Given the description of an element on the screen output the (x, y) to click on. 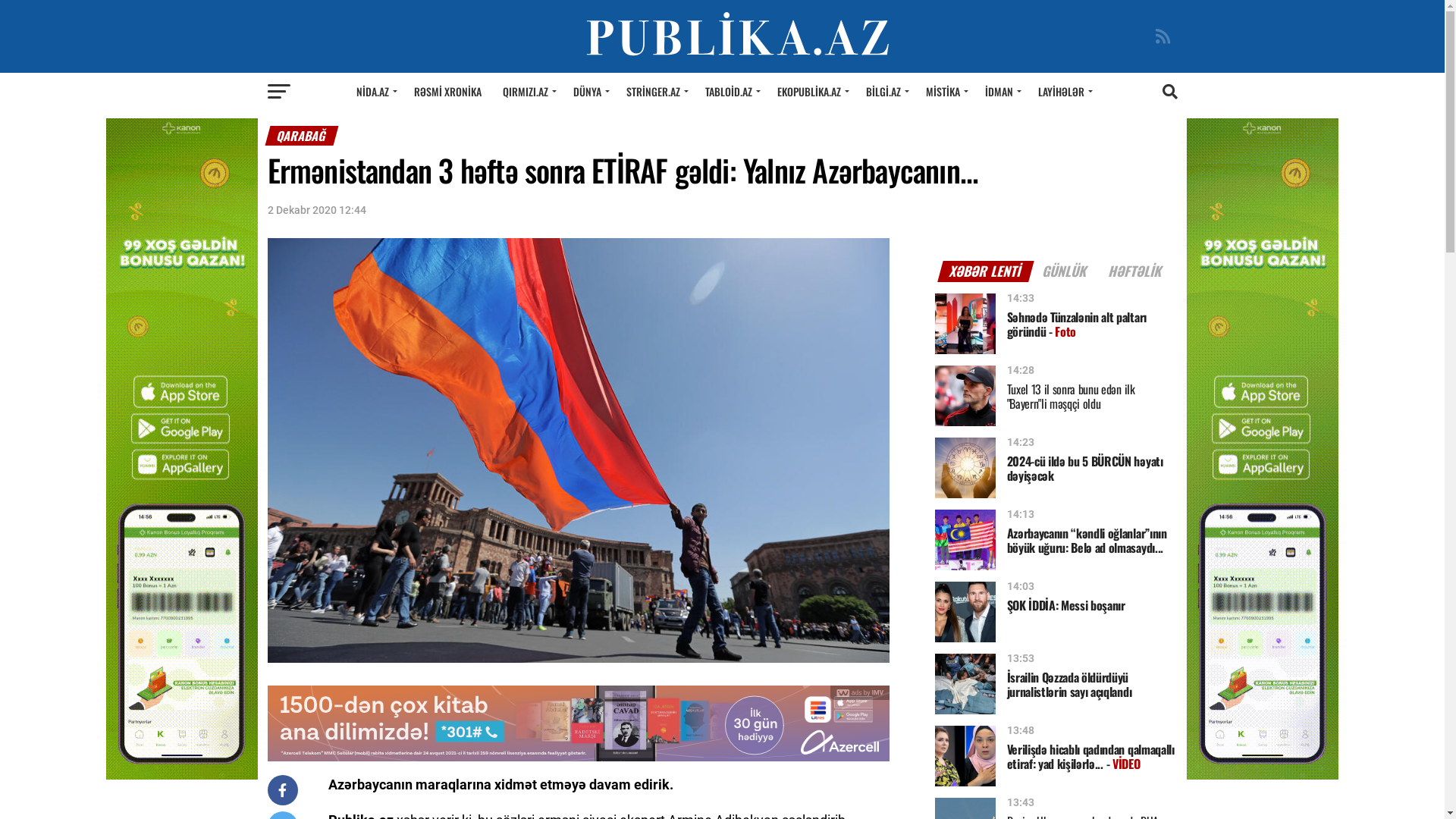
NIDA.AZ Element type: text (374, 91)
MISTIKA Element type: text (944, 91)
TABLOID.AZ Element type: text (730, 91)
EKOPUBLIKA.AZ Element type: text (810, 91)
QIRMIZI.AZ Element type: text (527, 91)
BILGI.AZ Element type: text (884, 91)
STRINGER.AZ Element type: text (655, 91)
